Given the description of an element on the screen output the (x, y) to click on. 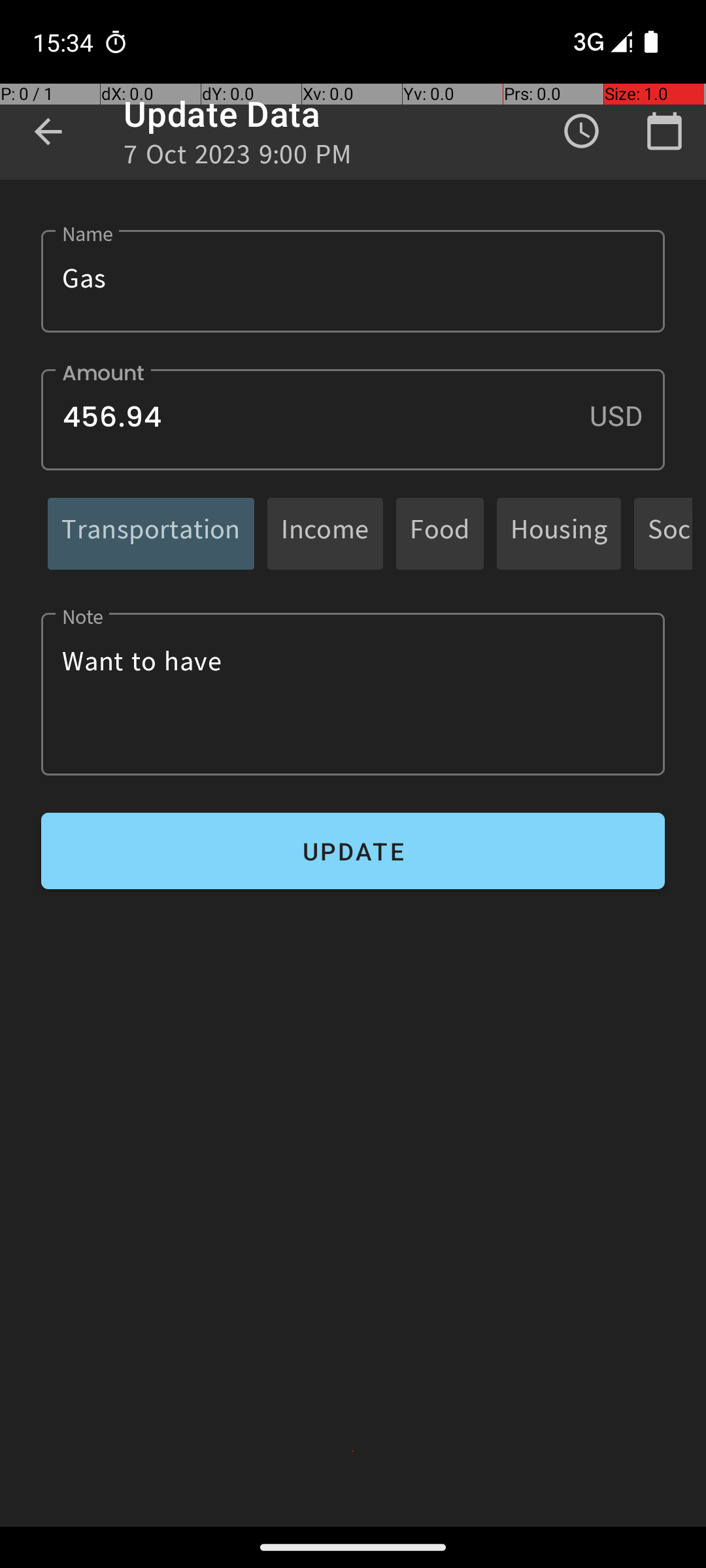
7 Oct 2023 9:00 PM Element type: android.widget.TextView (237, 157)
456.94 Element type: android.widget.EditText (352, 419)
